Given the description of an element on the screen output the (x, y) to click on. 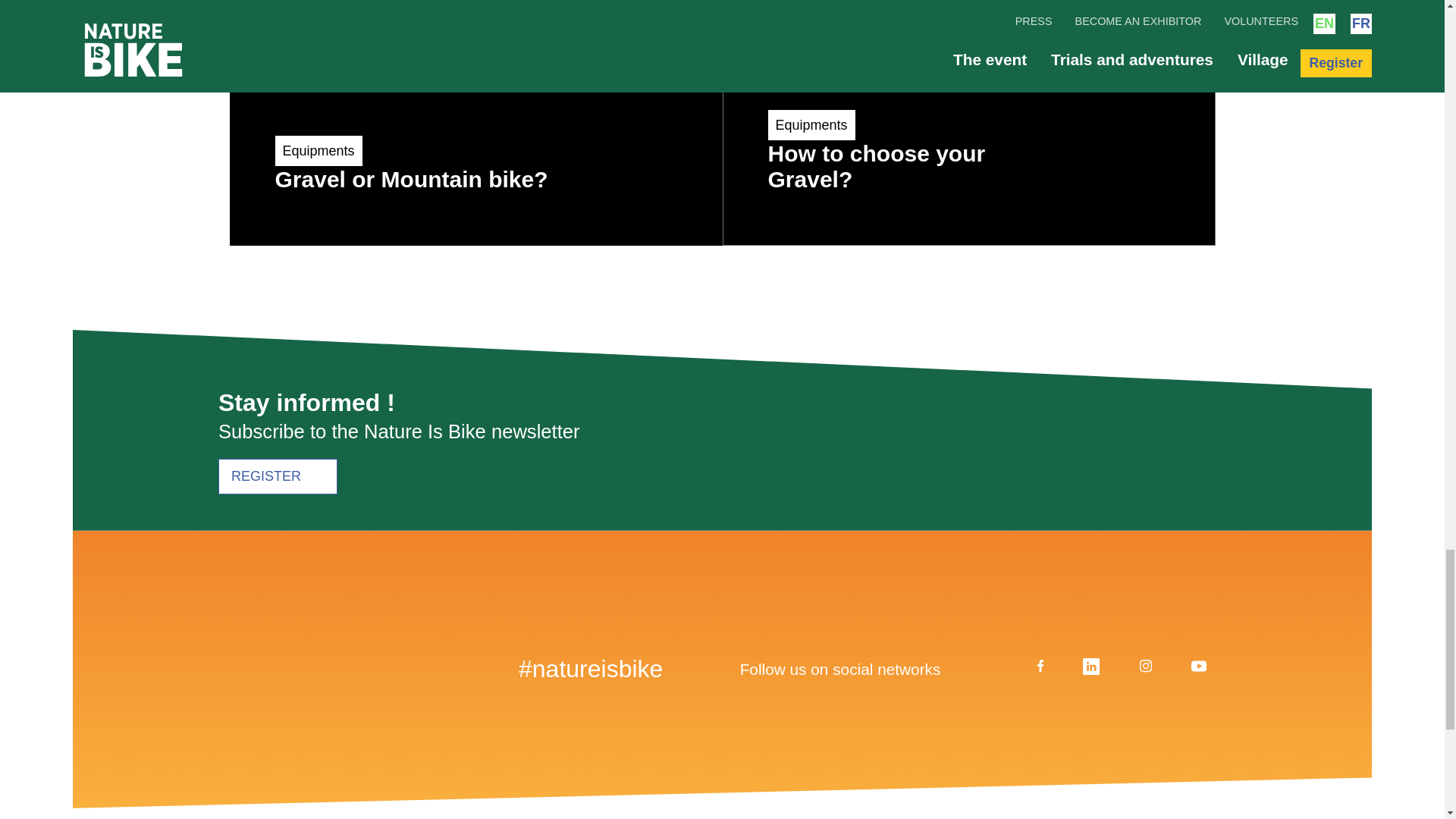
REGISTER (968, 122)
